Given the description of an element on the screen output the (x, y) to click on. 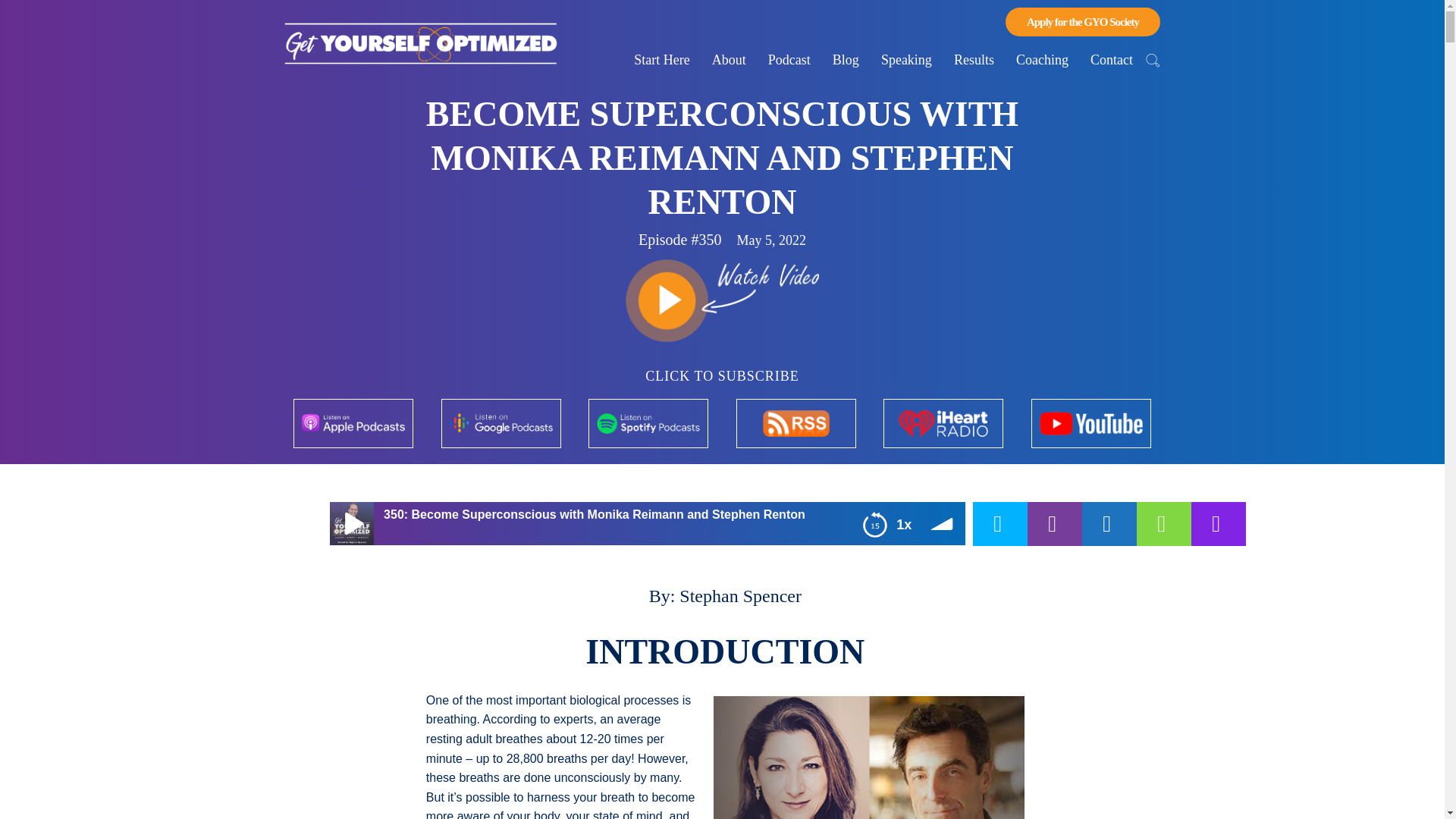
Results (973, 60)
Start Here (661, 60)
About (729, 60)
Share (999, 524)
Contact (1111, 60)
Speaking (906, 60)
Podcast (788, 60)
Apply for the GYO Society (1083, 21)
Apple Podcasts (27, 524)
Blog (845, 60)
Download (1087, 524)
Coaching (1042, 60)
